Given the description of an element on the screen output the (x, y) to click on. 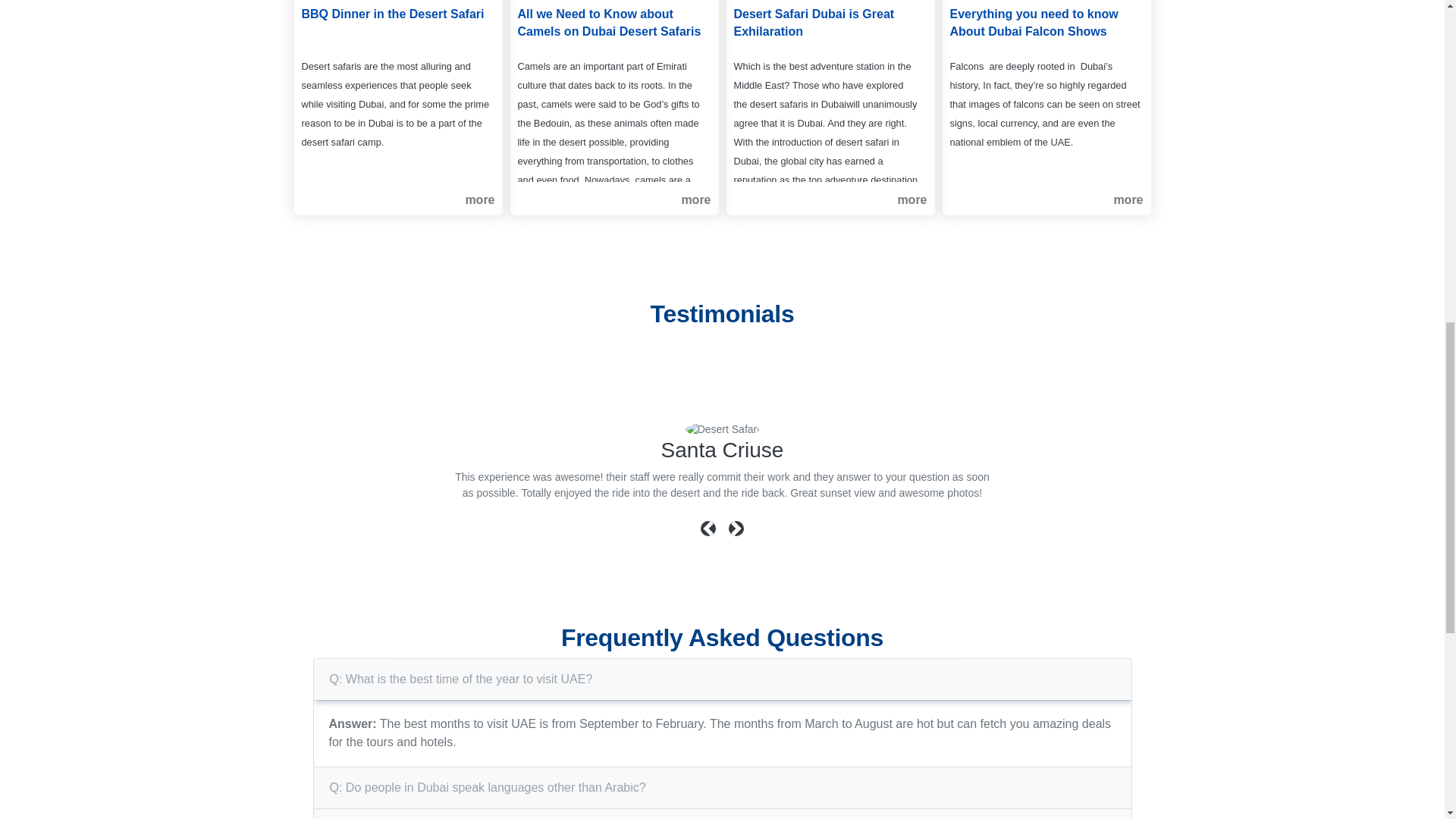
Q: Do people in Dubai speak languages other than Arabic? (488, 787)
more (911, 199)
more (479, 199)
more (1127, 199)
Next (735, 535)
Q: What is the best time of the year to visit UAE? (461, 679)
dubaisafari.org (722, 429)
more (695, 199)
Previous (709, 535)
Q:How long are your tours? (403, 816)
